Given the description of an element on the screen output the (x, y) to click on. 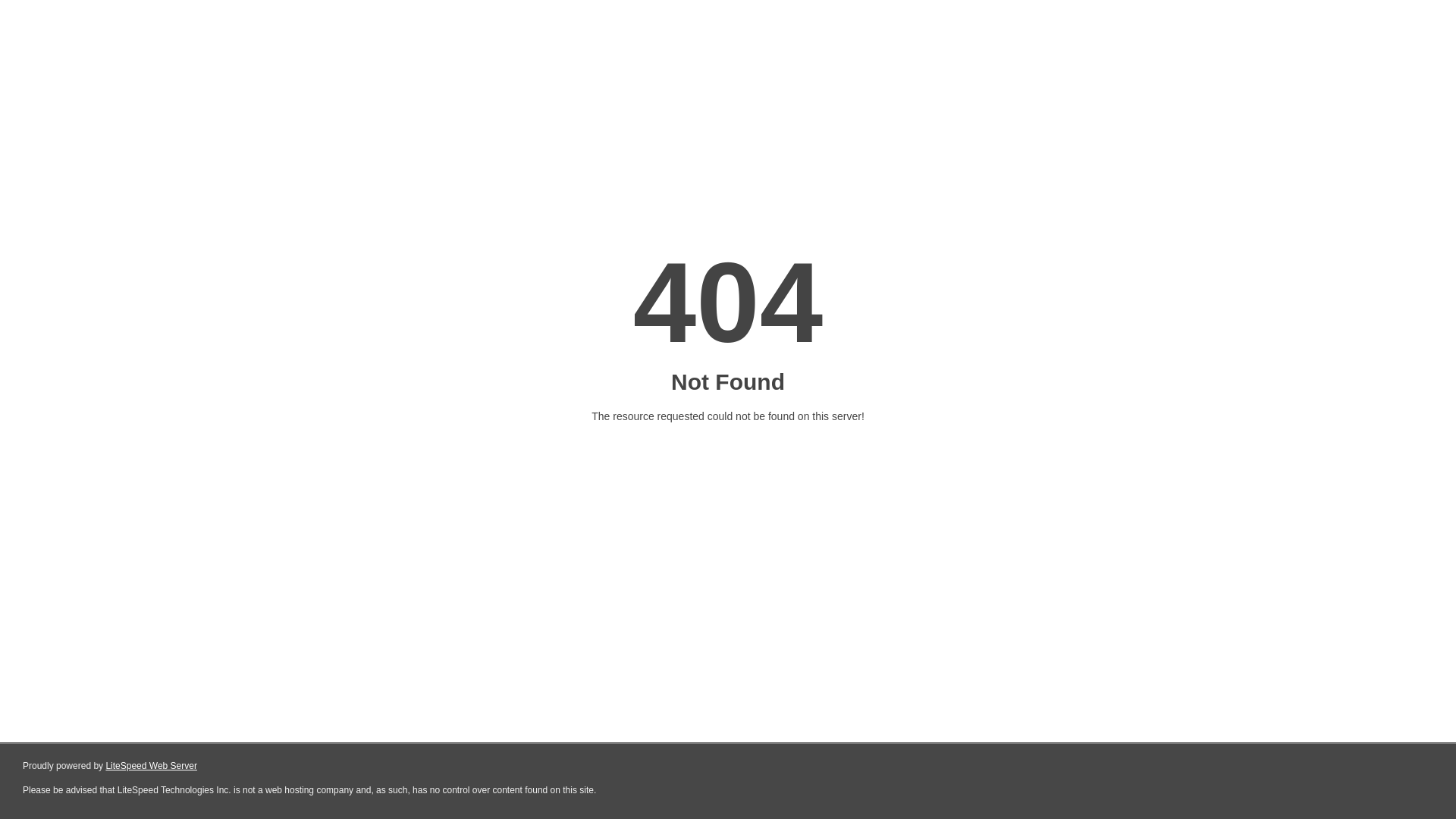
LiteSpeed Web Server Element type: text (151, 765)
